Given the description of an element on the screen output the (x, y) to click on. 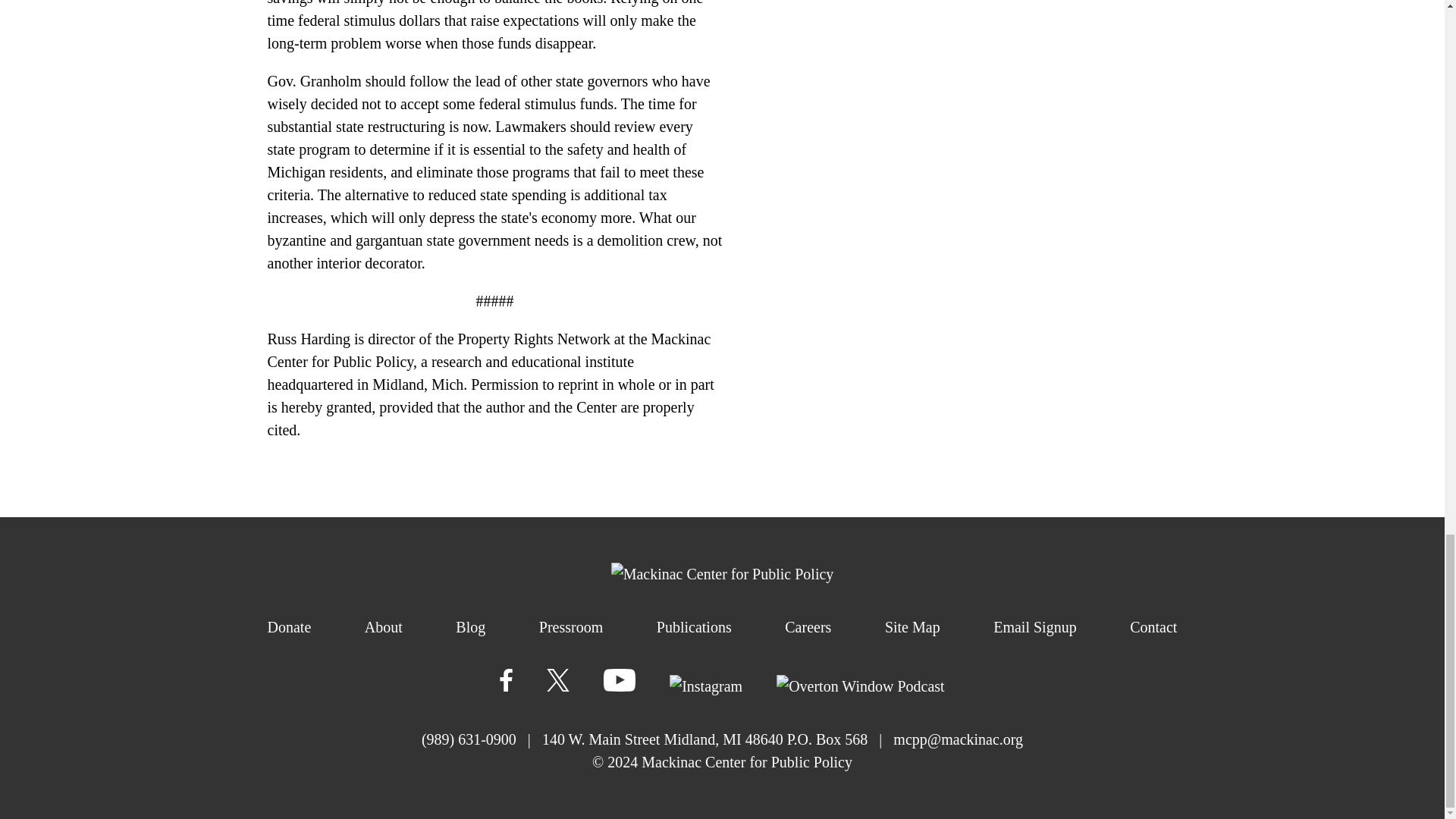
Email Signup (1033, 626)
Donate (288, 626)
Pressroom (570, 626)
Publications (694, 626)
Careers (807, 626)
Contact (1152, 626)
Blog (469, 626)
Site Map (912, 626)
About (384, 626)
